Given the description of an element on the screen output the (x, y) to click on. 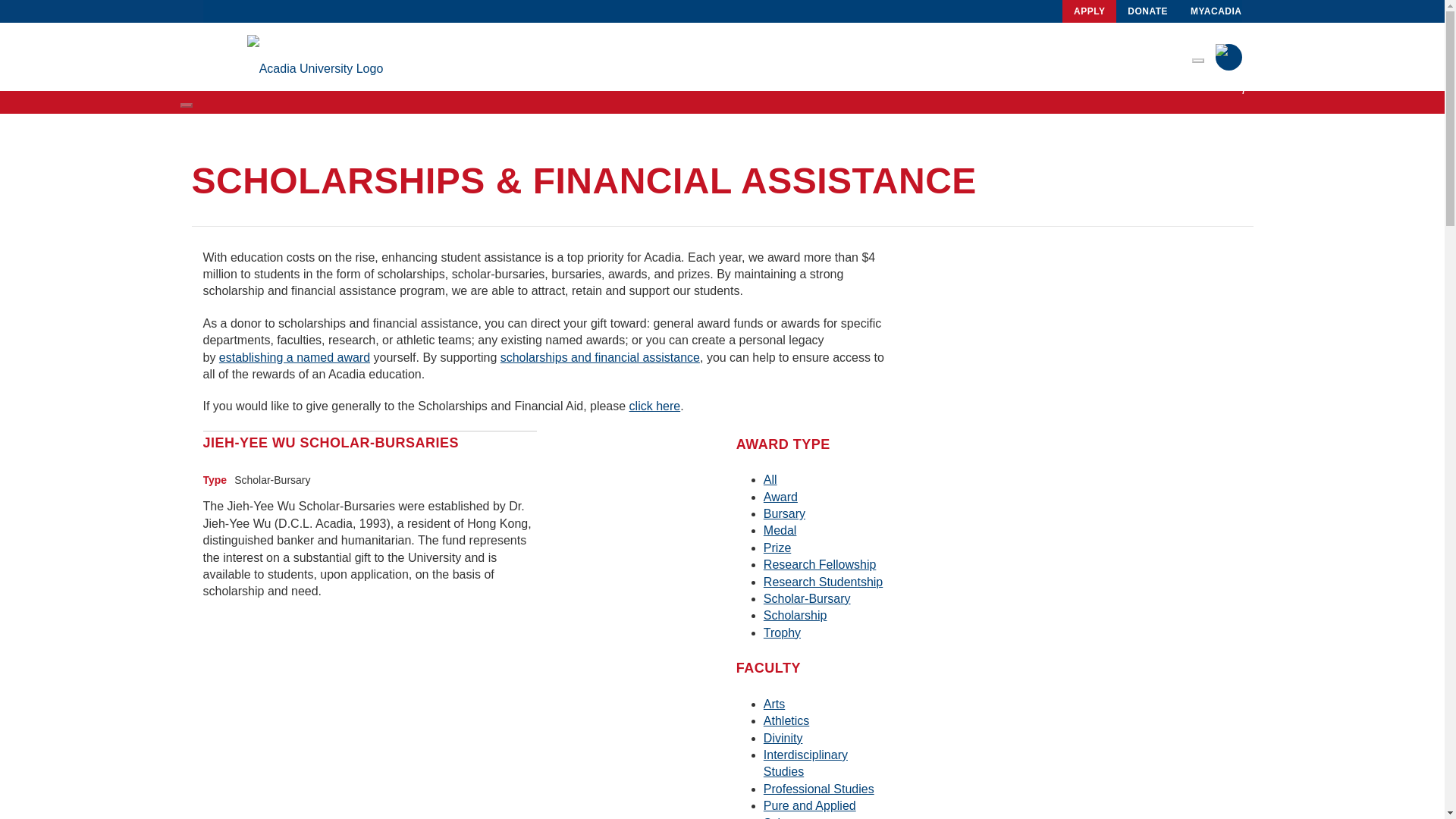
APPLY (1089, 11)
MYACADIA (1216, 11)
DONATE (1147, 11)
